Given the description of an element on the screen output the (x, y) to click on. 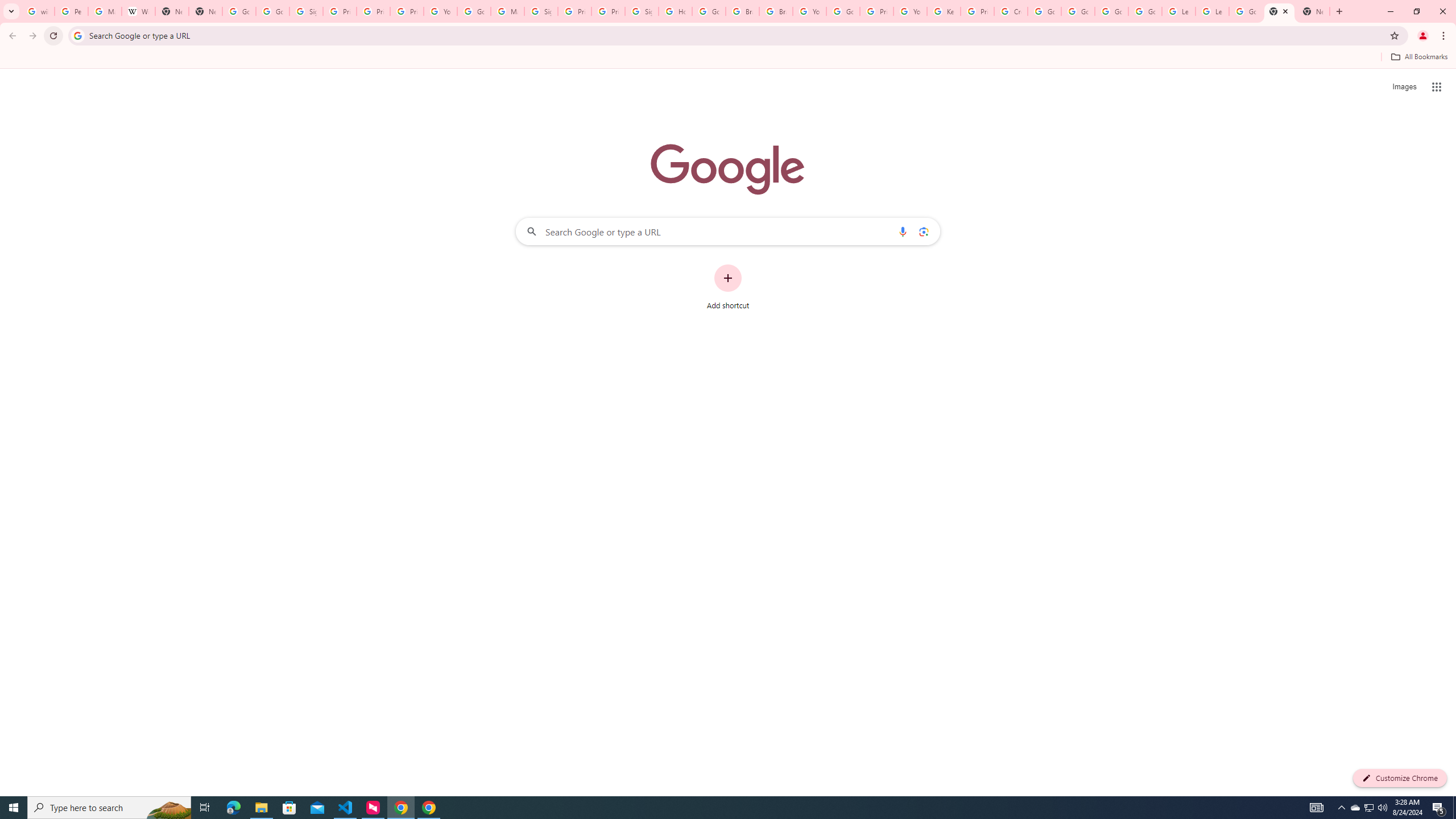
Google Account Help (474, 11)
Google Account Help (1077, 11)
Sign in - Google Accounts (305, 11)
YouTube (809, 11)
Google Account Help (1111, 11)
